Given the description of an element on the screen output the (x, y) to click on. 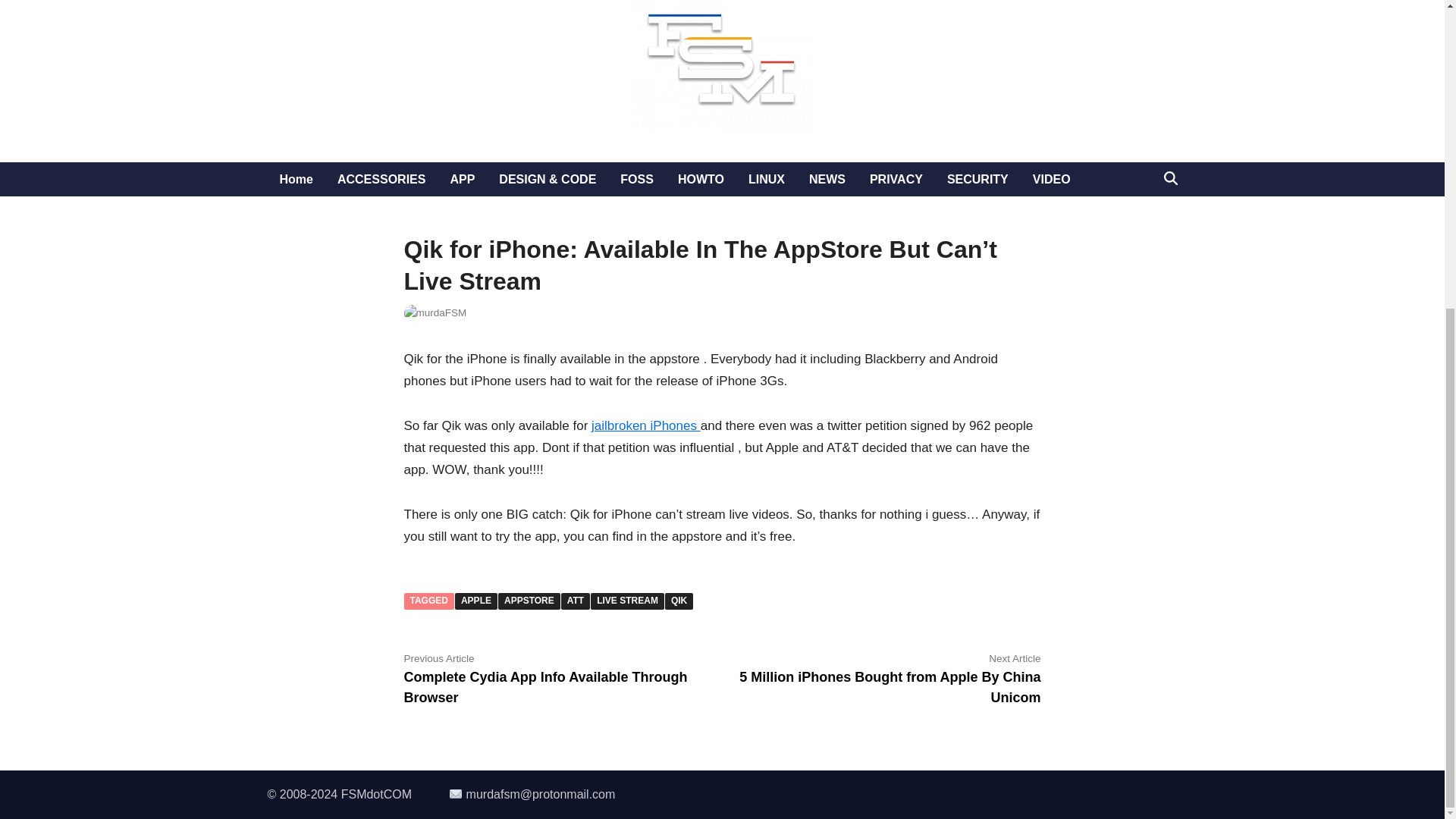
VIDEO (1051, 179)
NEWS (826, 179)
APPLE (475, 600)
APP (462, 179)
PRIVACY (895, 179)
QIK (679, 600)
SECURITY (977, 179)
LINUX (766, 179)
LIVE STREAM (627, 600)
FOSS (636, 179)
Home (295, 179)
HOWTO (700, 179)
ATT (574, 600)
